Given the description of an element on the screen output the (x, y) to click on. 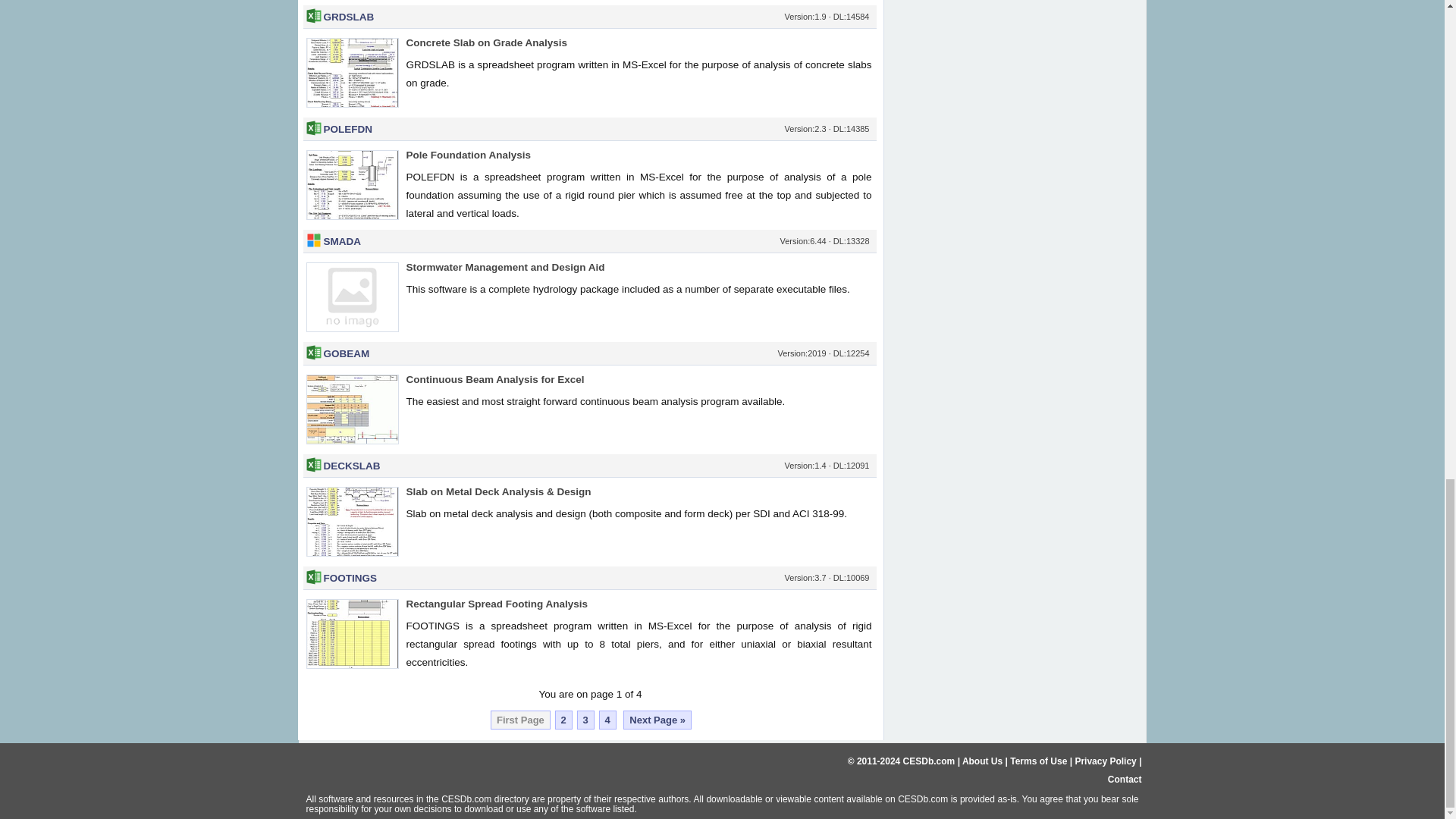
Concrete Slab on Grade Analysis (486, 42)
GRDSLAB (348, 16)
POLEFDN (347, 129)
